Given the description of an element on the screen output the (x, y) to click on. 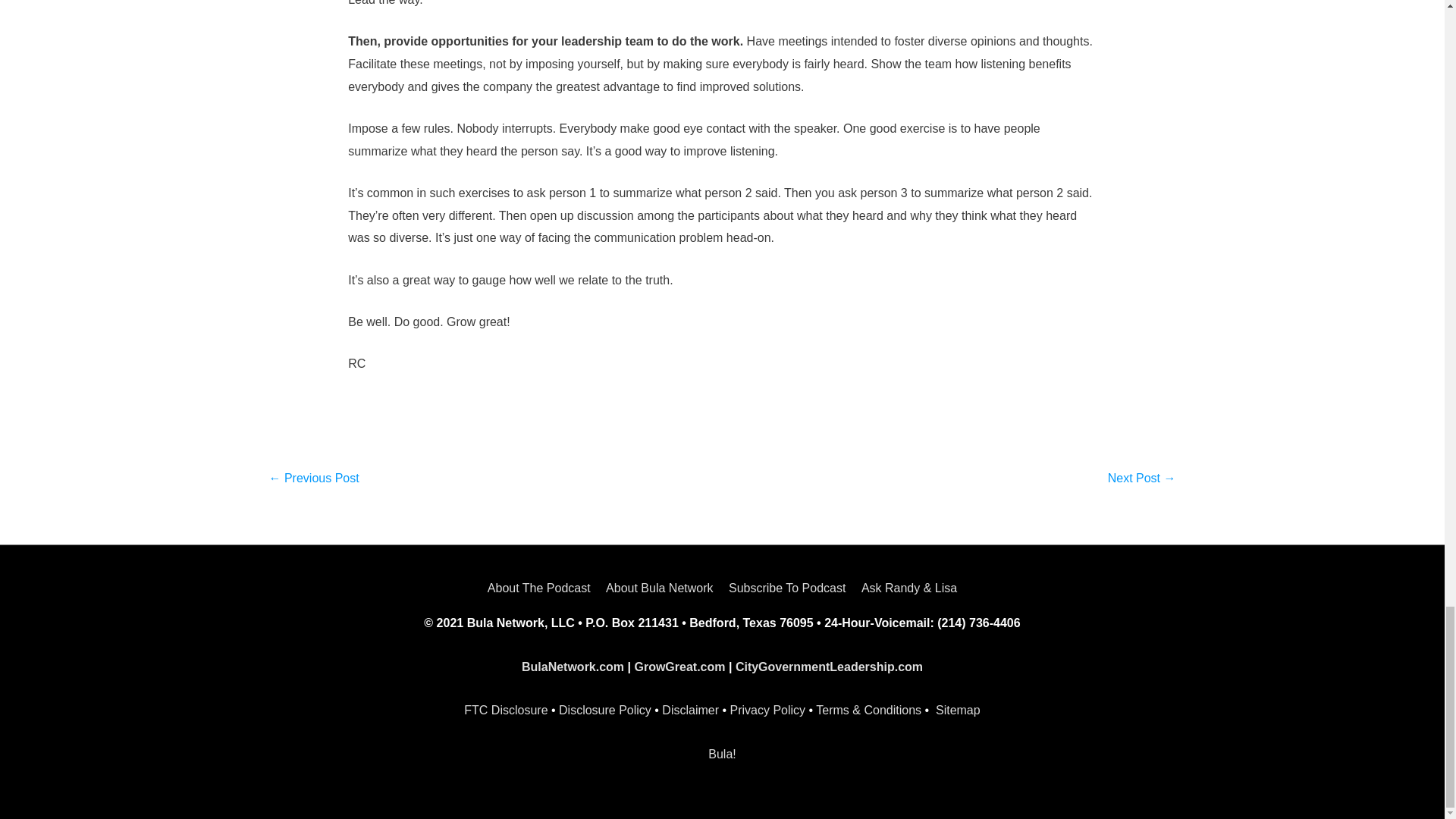
About The Podcast (541, 587)
BulaNetwork.com (572, 666)
About Bula Network (659, 587)
GrowGreat.com (679, 666)
Subscribe To Podcast (786, 587)
CityGovernmentLeadership.com (829, 666)
